Given the description of an element on the screen output the (x, y) to click on. 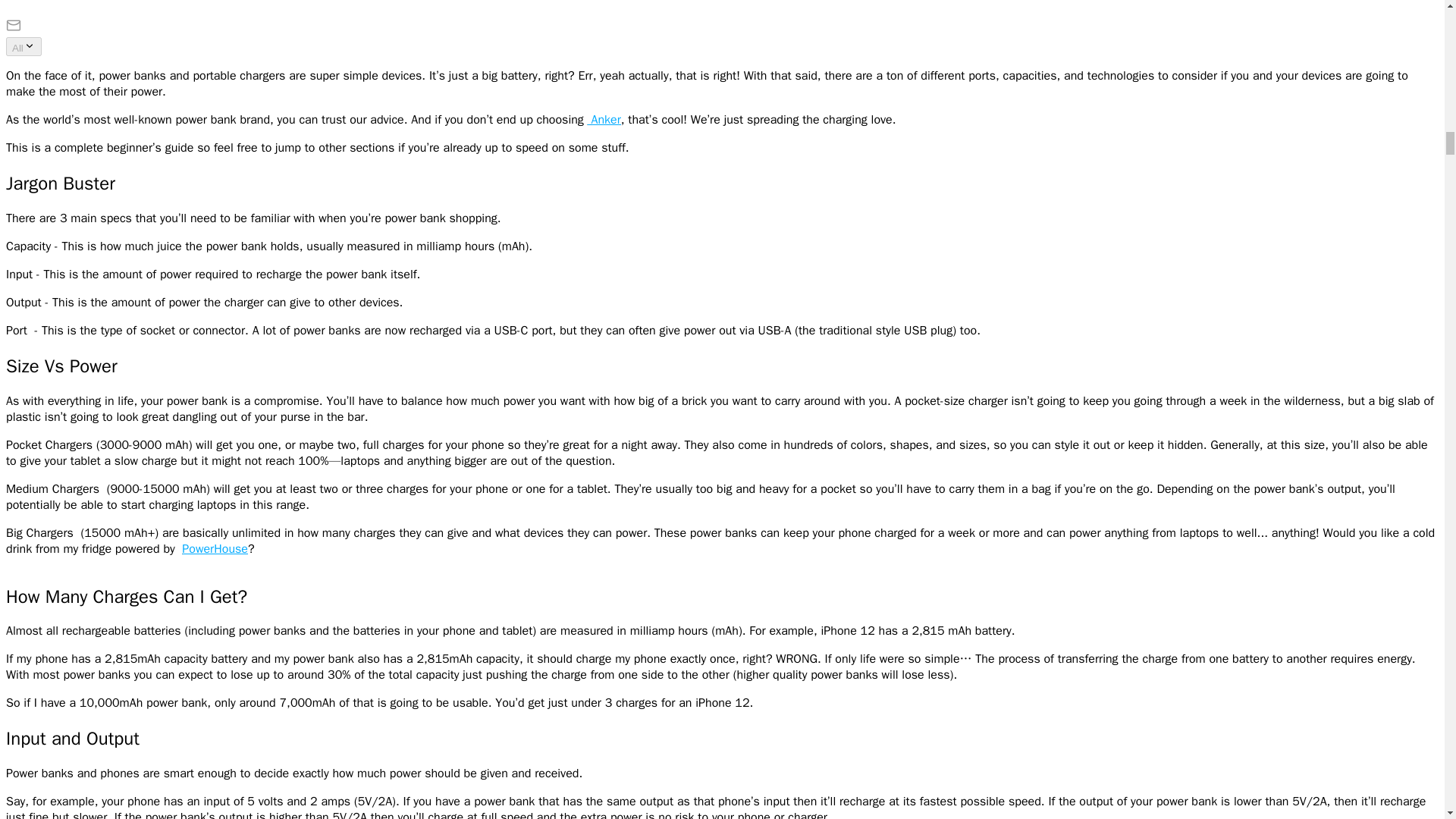
Anker (605, 119)
PowerHouse (214, 548)
All (23, 46)
Email this to a friend (13, 28)
